Given the description of an element on the screen output the (x, y) to click on. 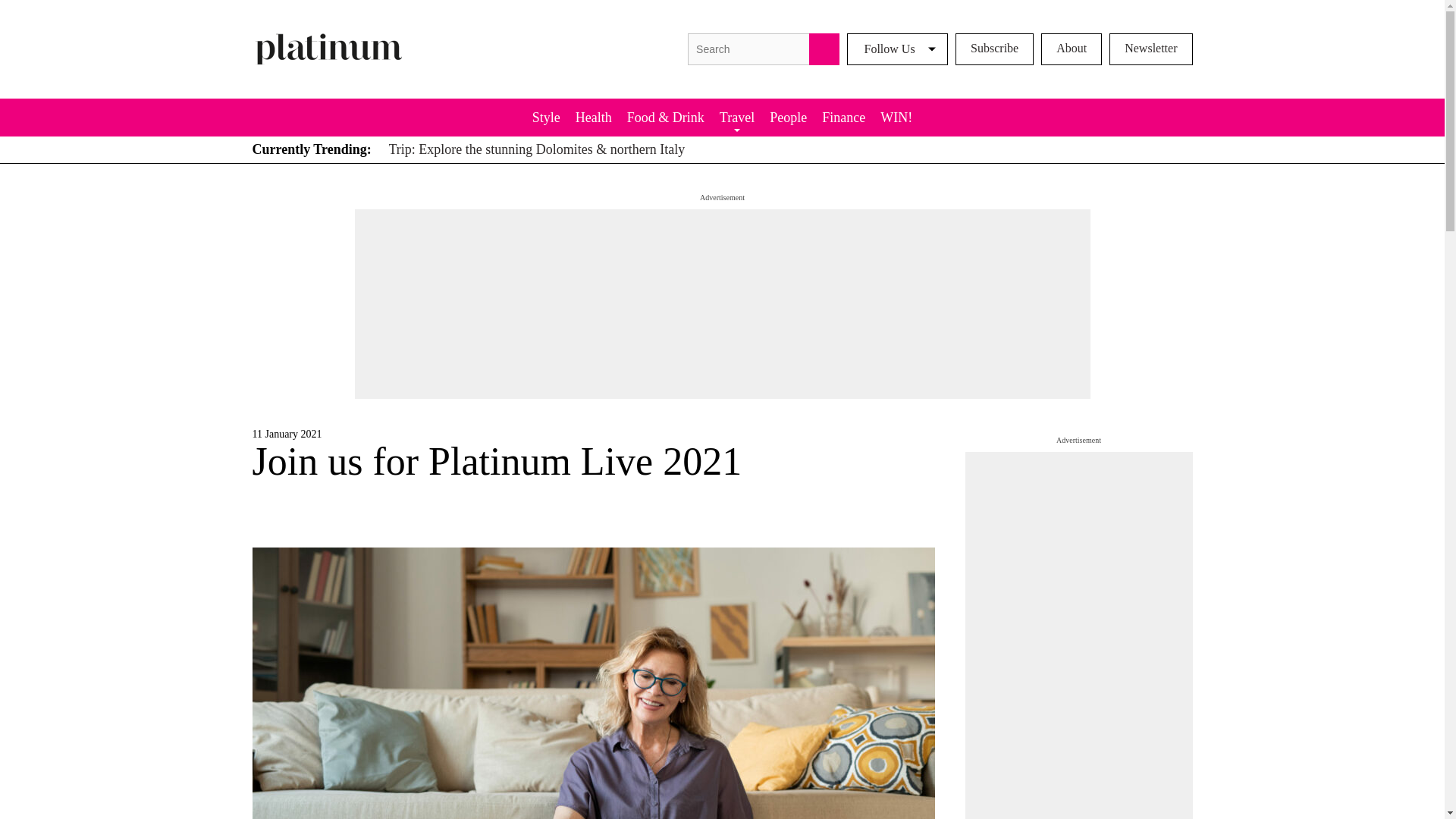
People (787, 117)
WIN! (896, 117)
Finance (842, 117)
Newsletter (1150, 49)
Subscribe (994, 49)
Follow Us (897, 49)
Travel (736, 117)
About (1071, 49)
Search (824, 49)
Health (593, 117)
